Given the description of an element on the screen output the (x, y) to click on. 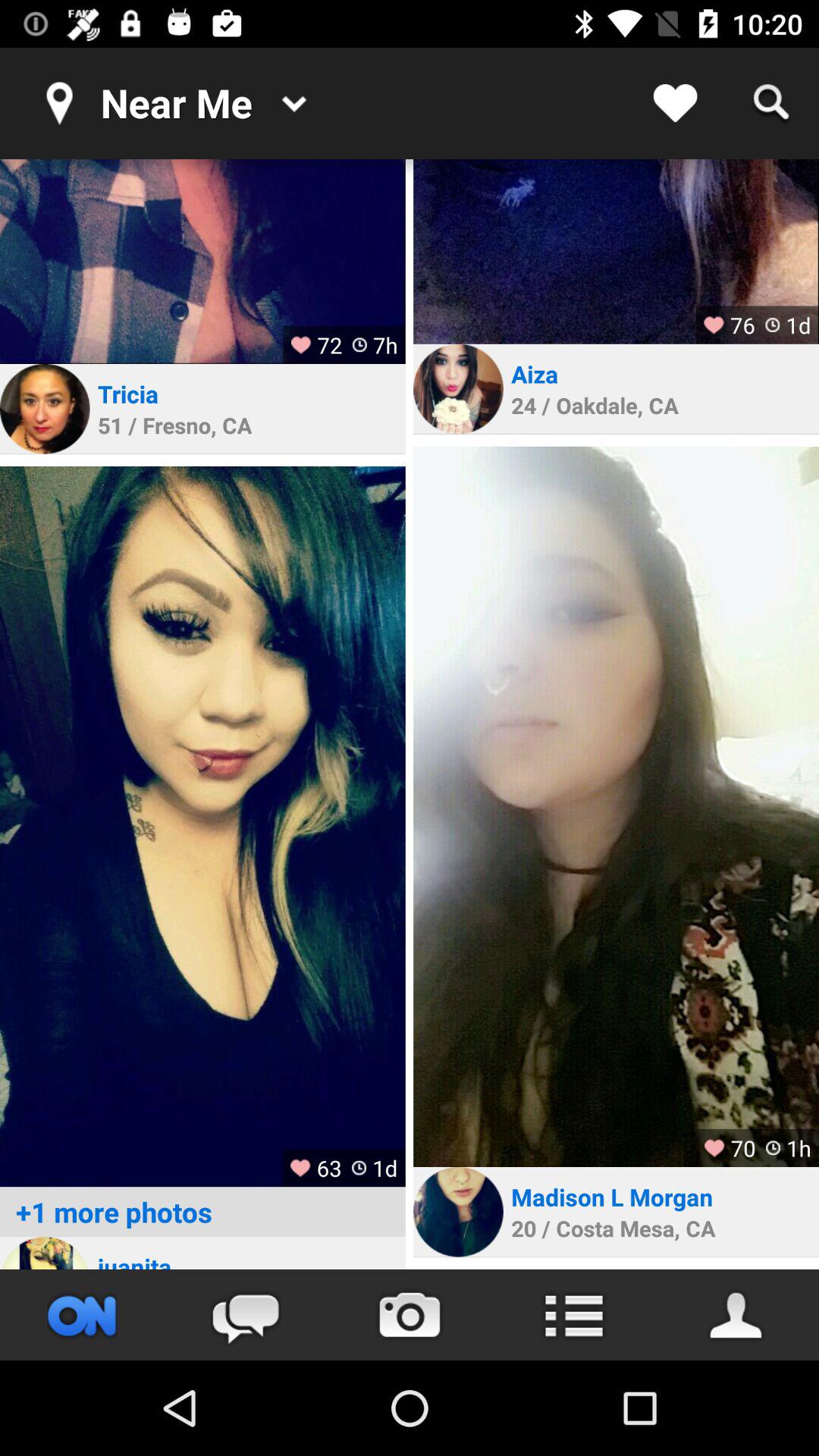
go to profile (616, 806)
